Given the description of an element on the screen output the (x, y) to click on. 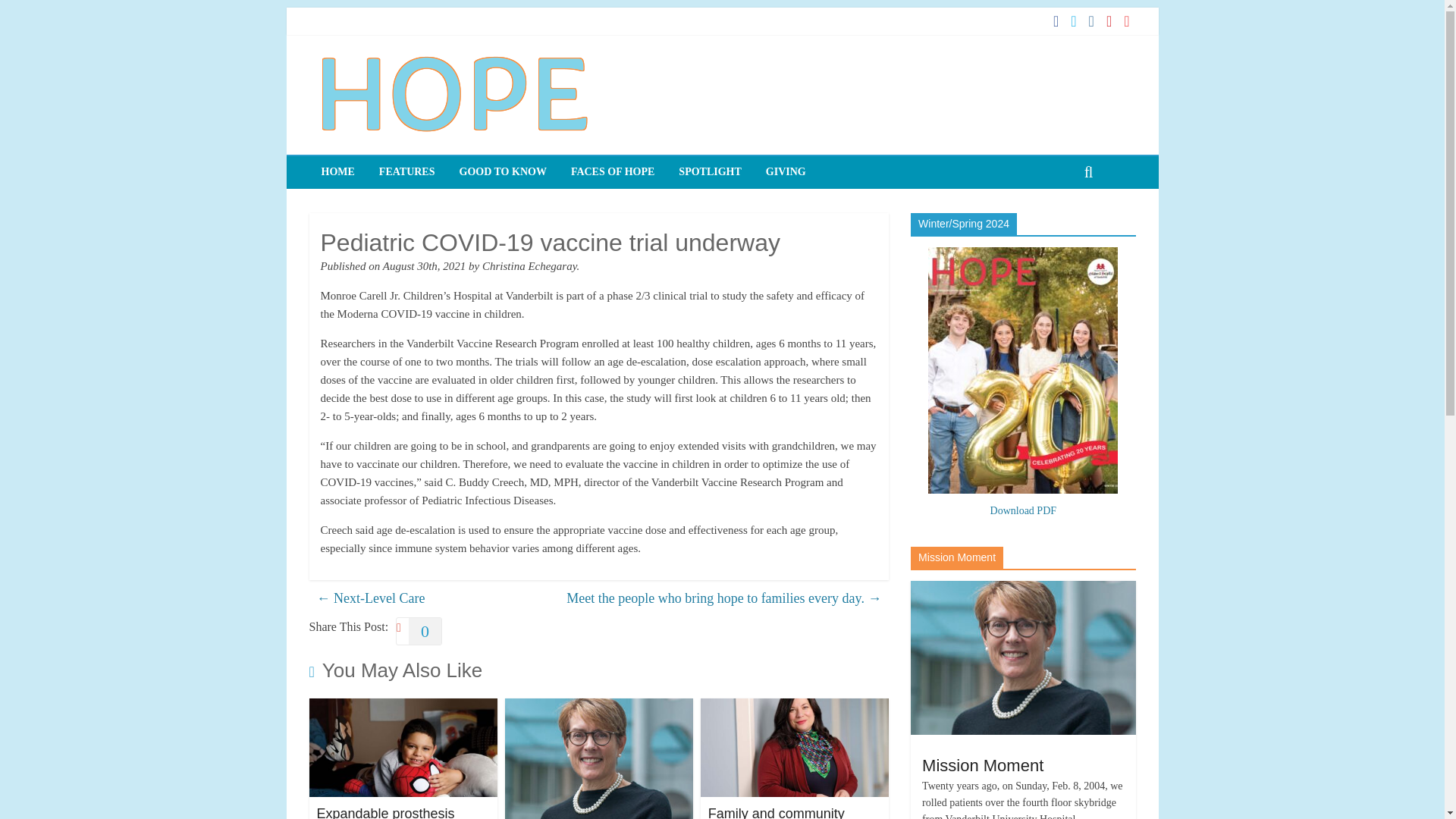
Expandable prosthesis gives young patient more mobility (392, 812)
HOME (337, 172)
Mission Moment (1023, 657)
FEATURES (406, 172)
Expandable prosthesis gives young patient more mobility (392, 812)
GOOD TO KNOW (502, 172)
Mission Moment (1023, 588)
SPOTLIGHT (709, 172)
FACES OF HOPE (612, 172)
GIVING (786, 172)
0 (419, 631)
Expandable prosthesis gives young patient more mobility (402, 707)
Mission Moment (982, 764)
Download PDF (1023, 510)
